Given the description of an element on the screen output the (x, y) to click on. 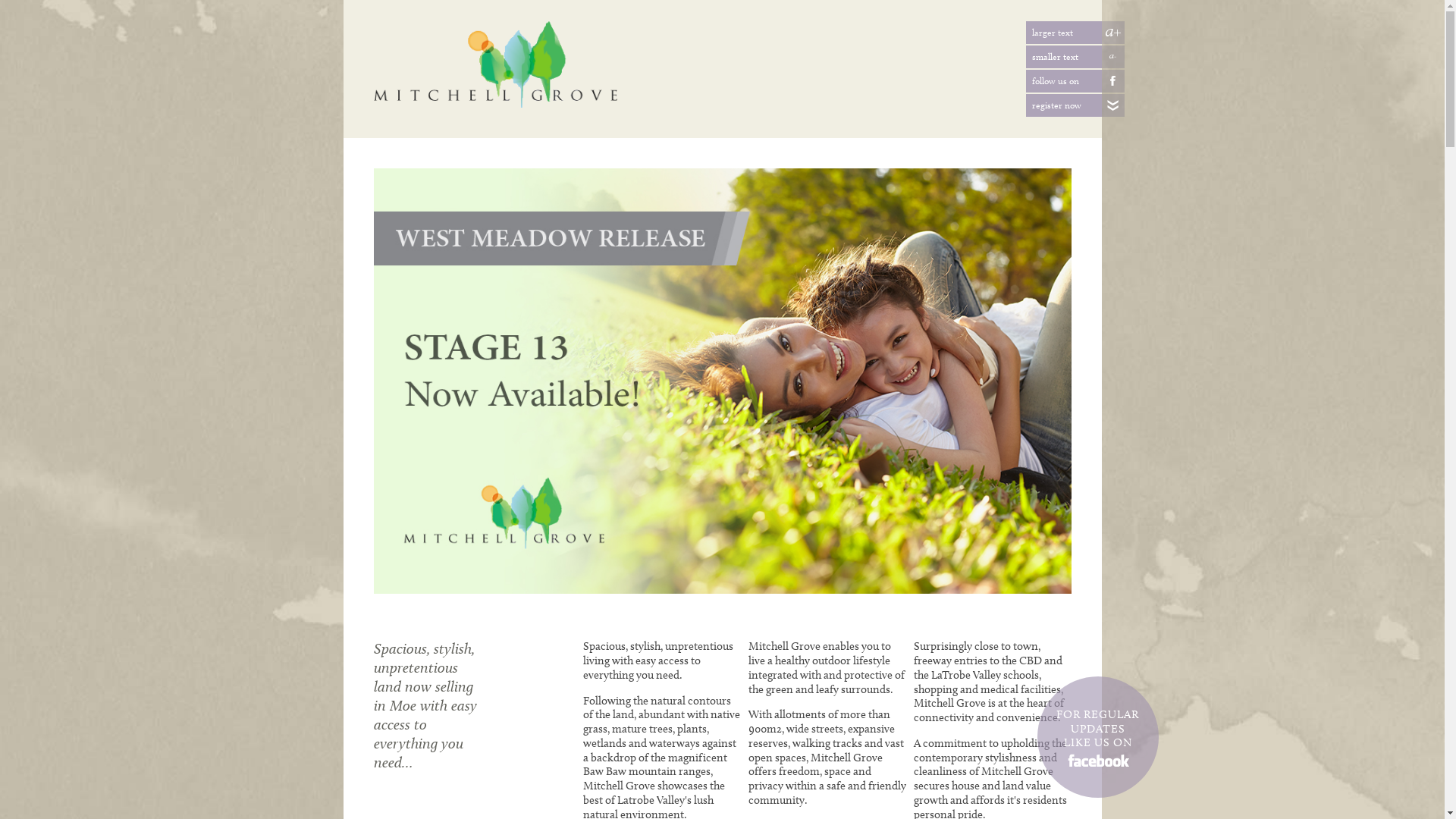
follow us on Element type: text (1112, 80)
FOR REGULAR UPDATES
LIKE US ON Element type: text (1097, 736)
register now Element type: text (1112, 105)
